Given the description of an element on the screen output the (x, y) to click on. 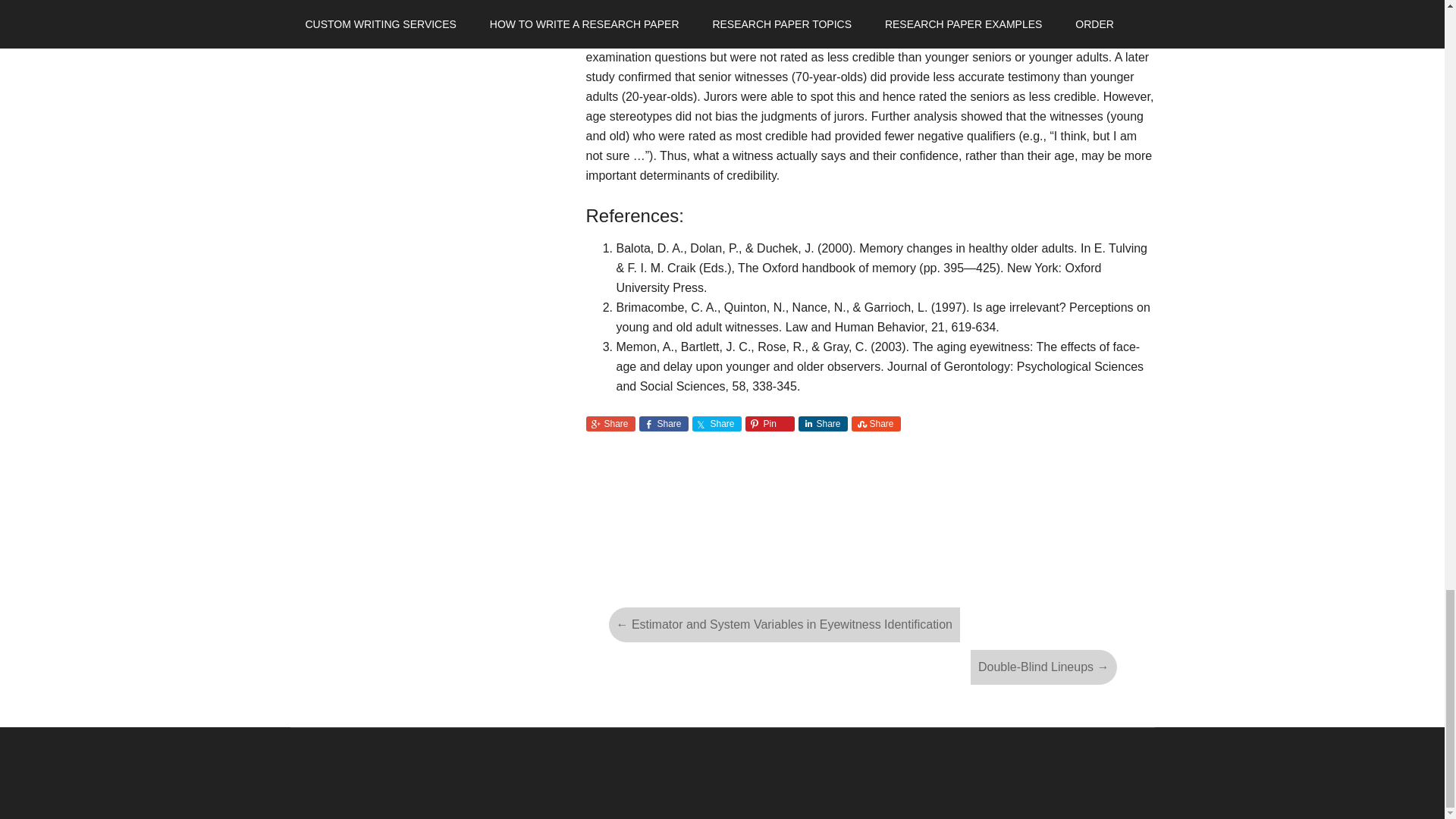
Share (716, 423)
Share (609, 423)
Pin (768, 423)
Share (663, 423)
Share (822, 423)
Share (874, 423)
